Given the description of an element on the screen output the (x, y) to click on. 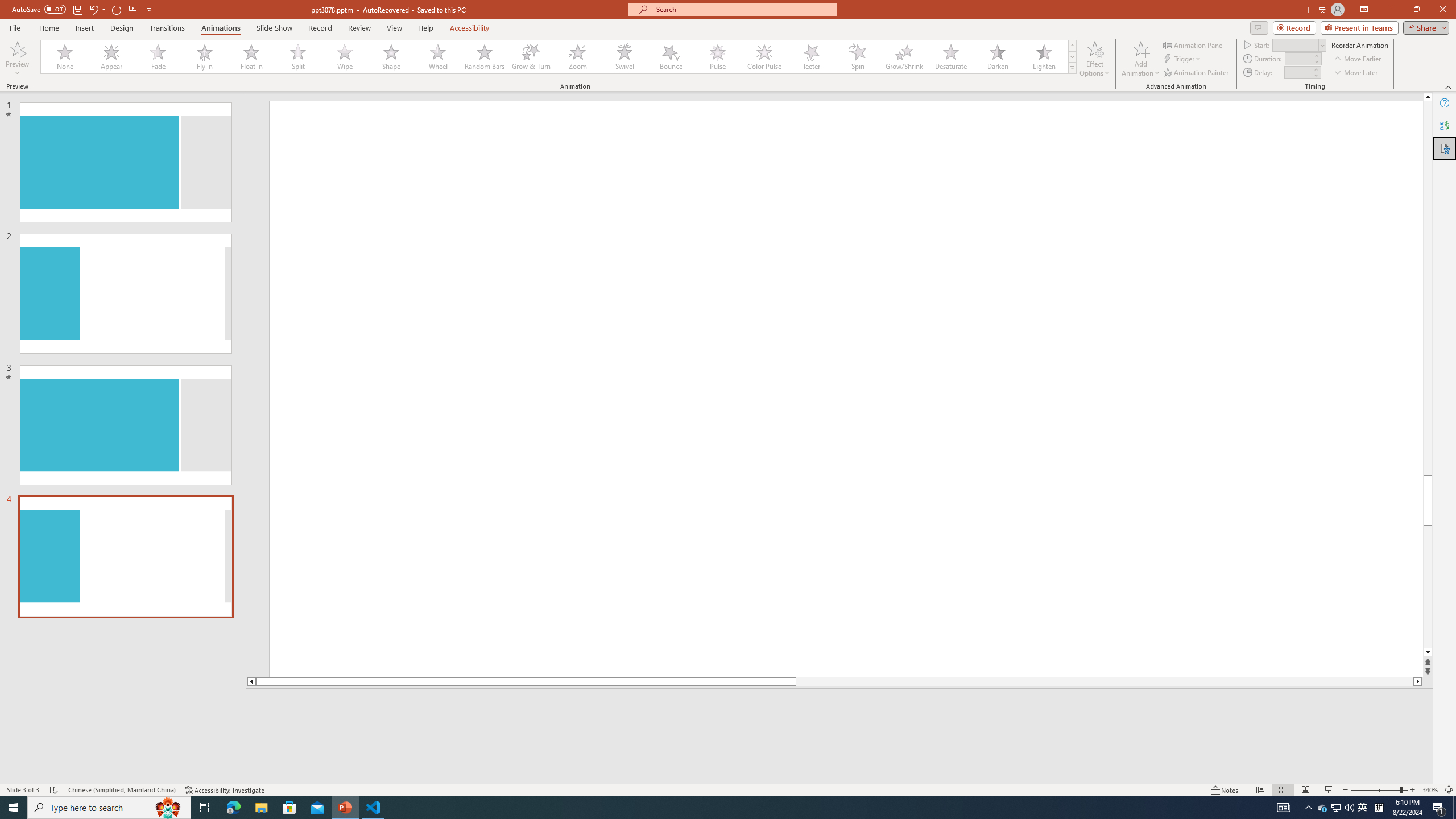
Move Later (1355, 72)
Animation Styles (1071, 67)
Animation Painter (1196, 72)
Appear (111, 56)
Trigger (1182, 58)
AutomationID: AnimationGallery (558, 56)
